Given the description of an element on the screen output the (x, y) to click on. 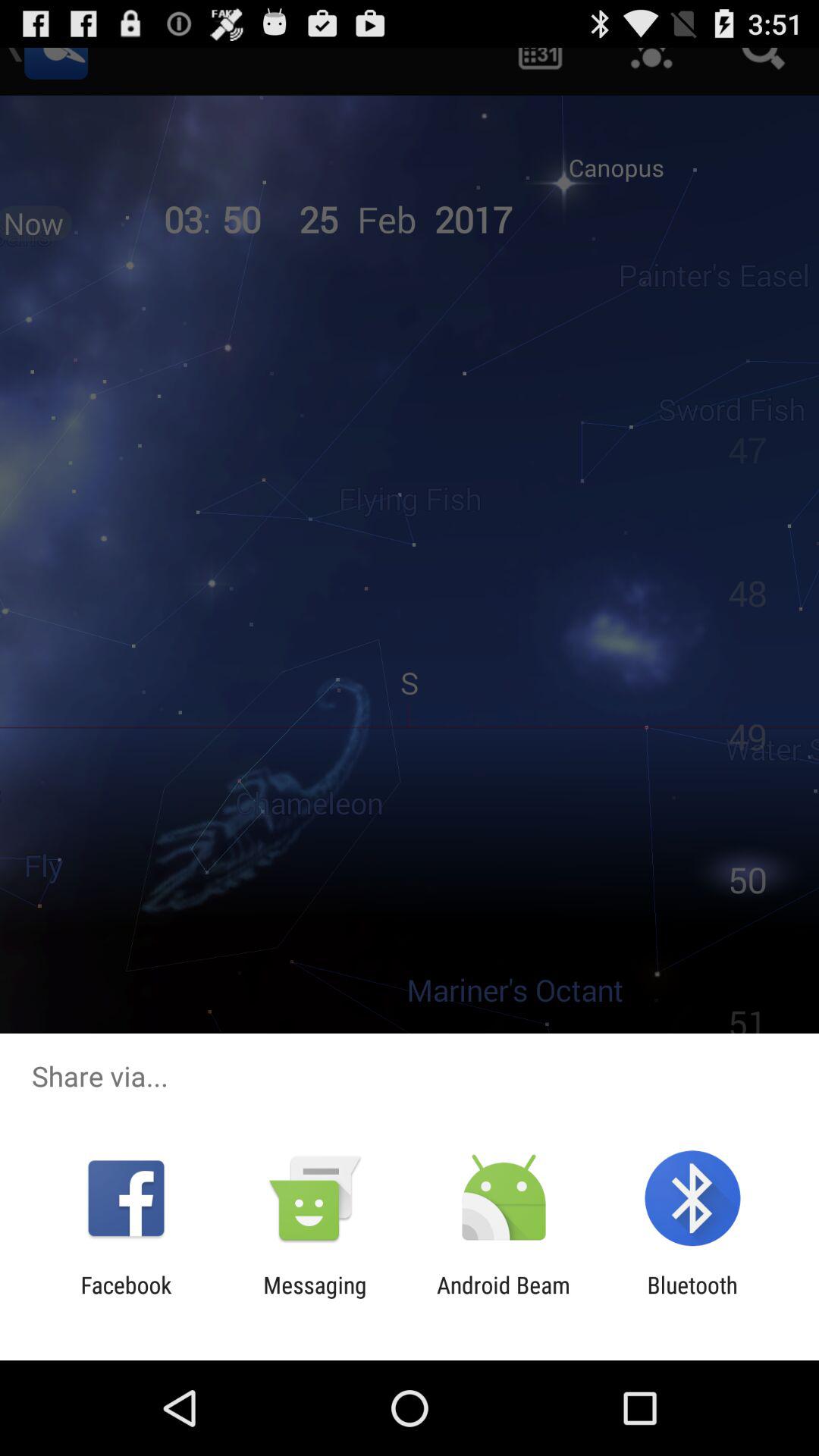
press the app next to the bluetooth icon (503, 1298)
